Given the description of an element on the screen output the (x, y) to click on. 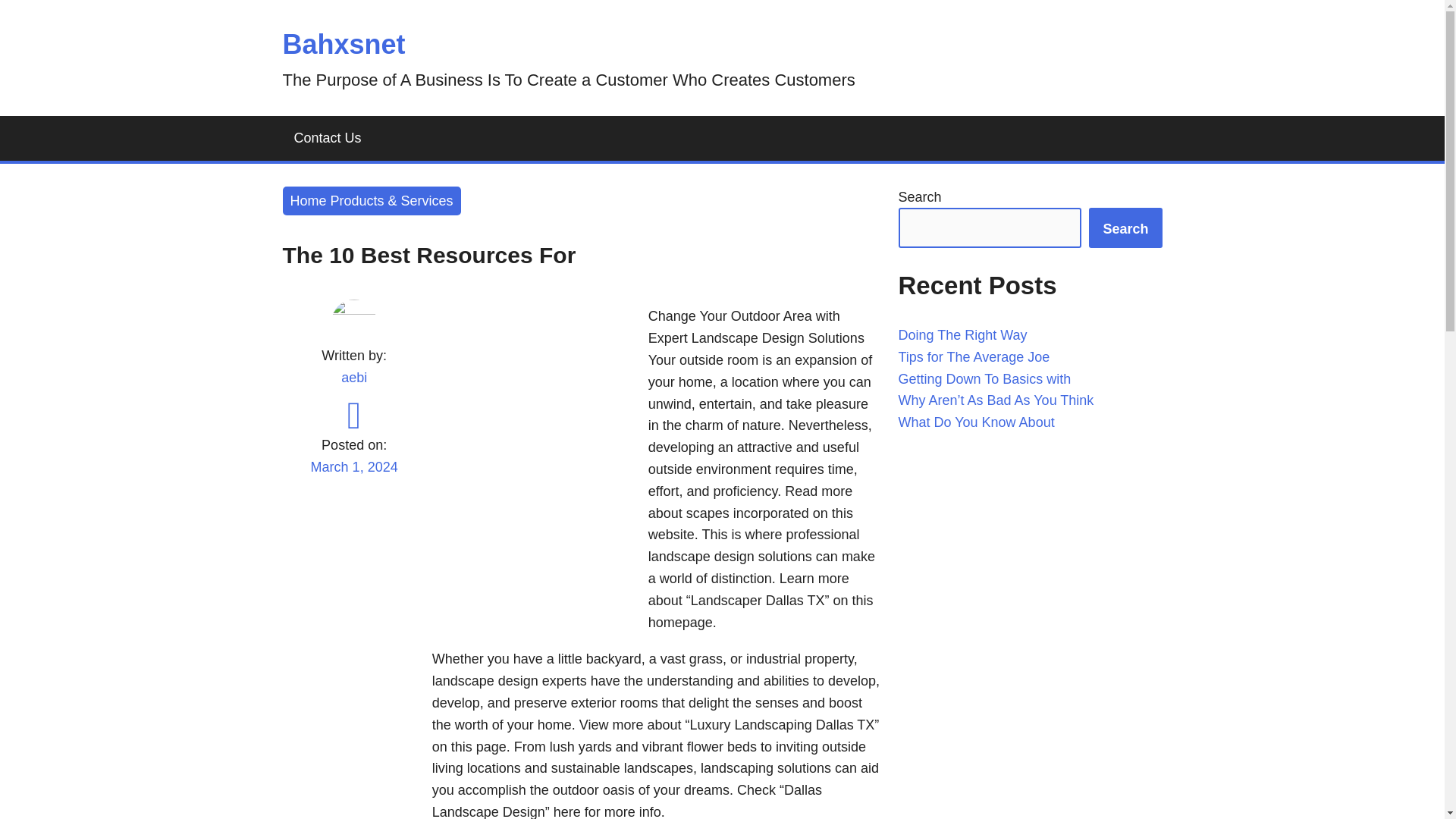
Getting Down To Basics with (984, 378)
Bahxsnet (343, 43)
Search (1125, 228)
March 1, 2024 (353, 476)
aebi (353, 377)
Tips for The Average Joe (973, 356)
Contact Us (327, 138)
What Do You Know About (976, 421)
Doing The Right Way (962, 335)
